Given the description of an element on the screen output the (x, y) to click on. 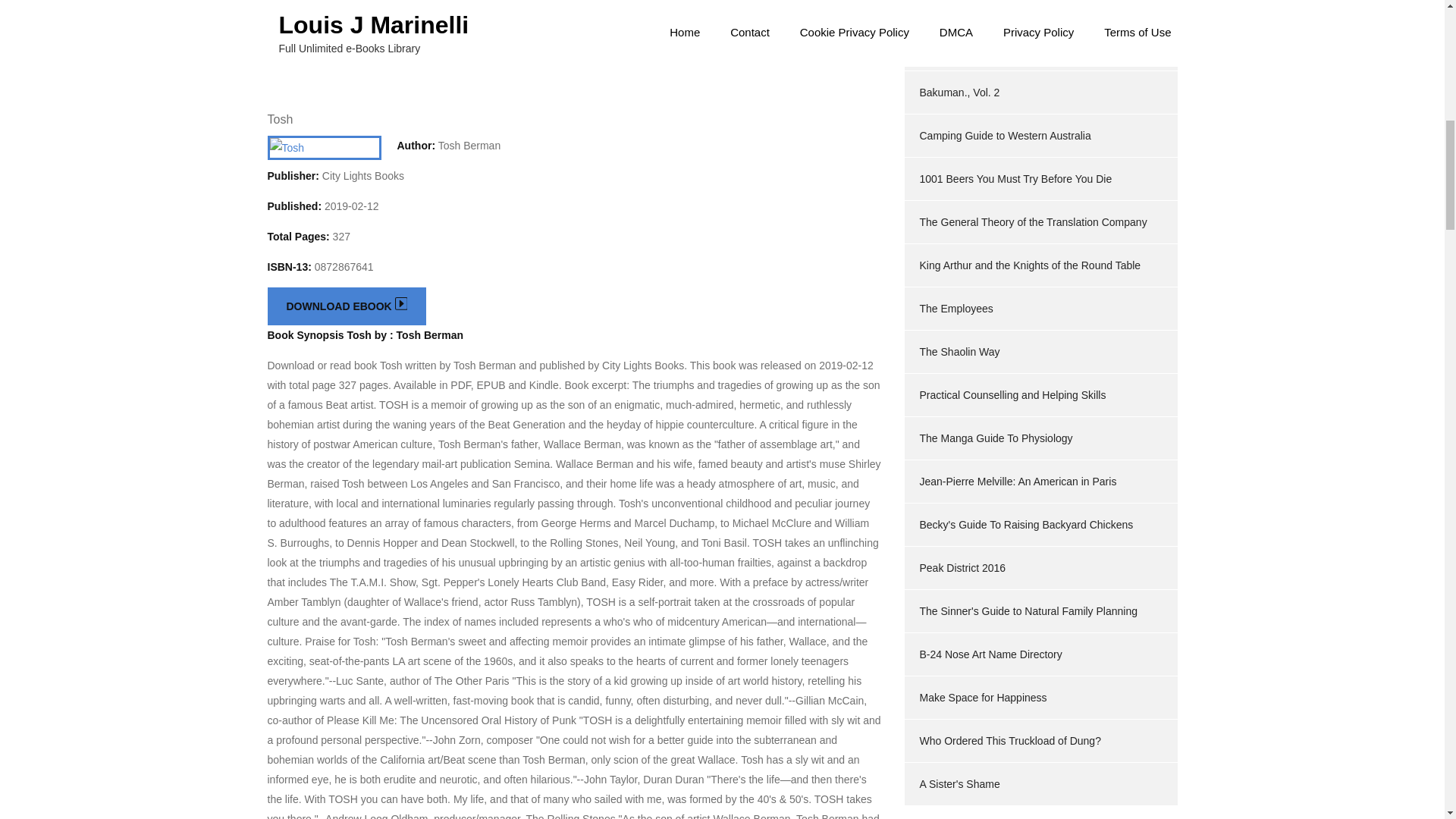
DOWNLOAD EBOOK (346, 306)
Tosh (279, 119)
